Given the description of an element on the screen output the (x, y) to click on. 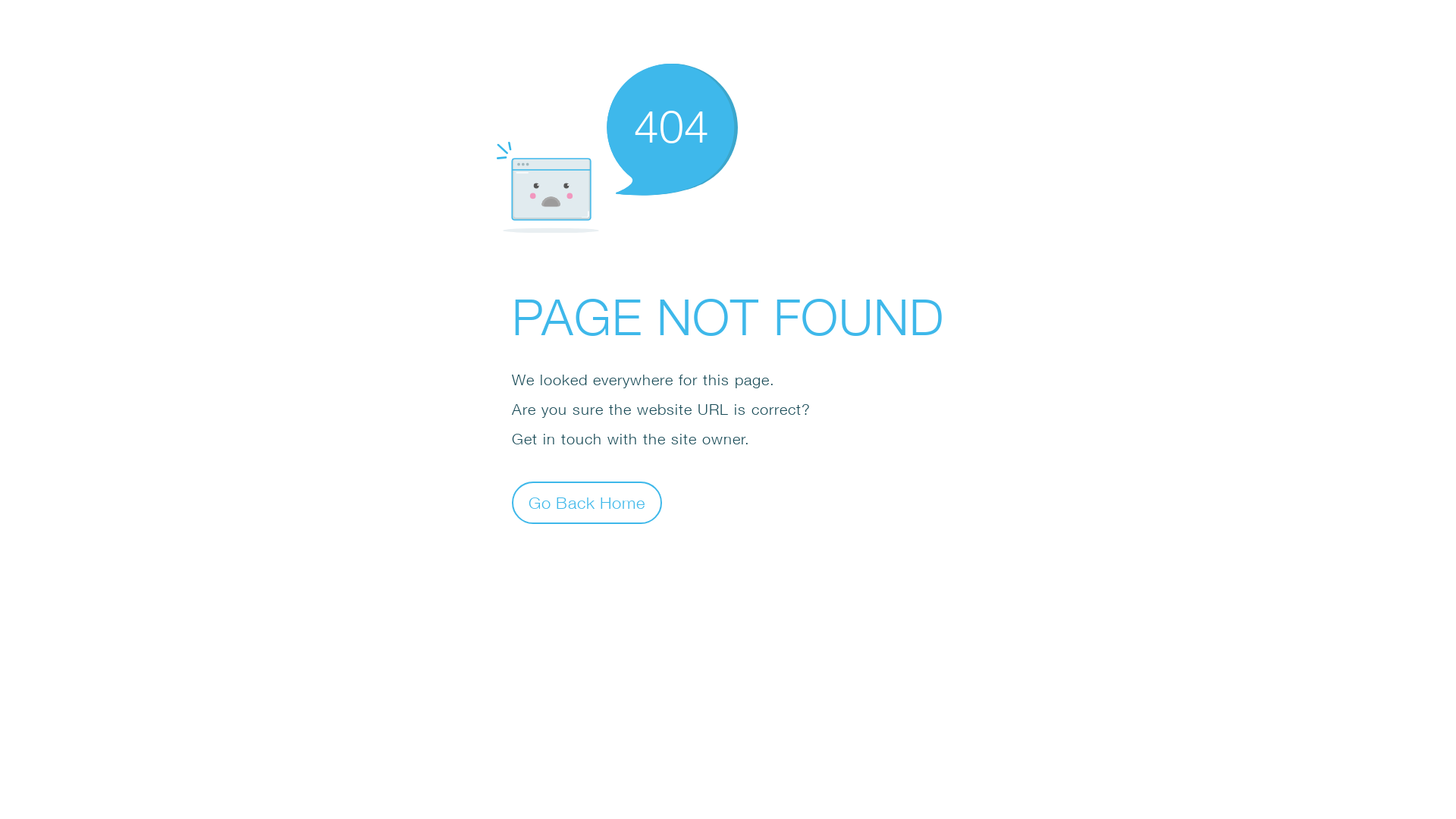
Go Back Home Element type: text (586, 502)
